Given the description of an element on the screen output the (x, y) to click on. 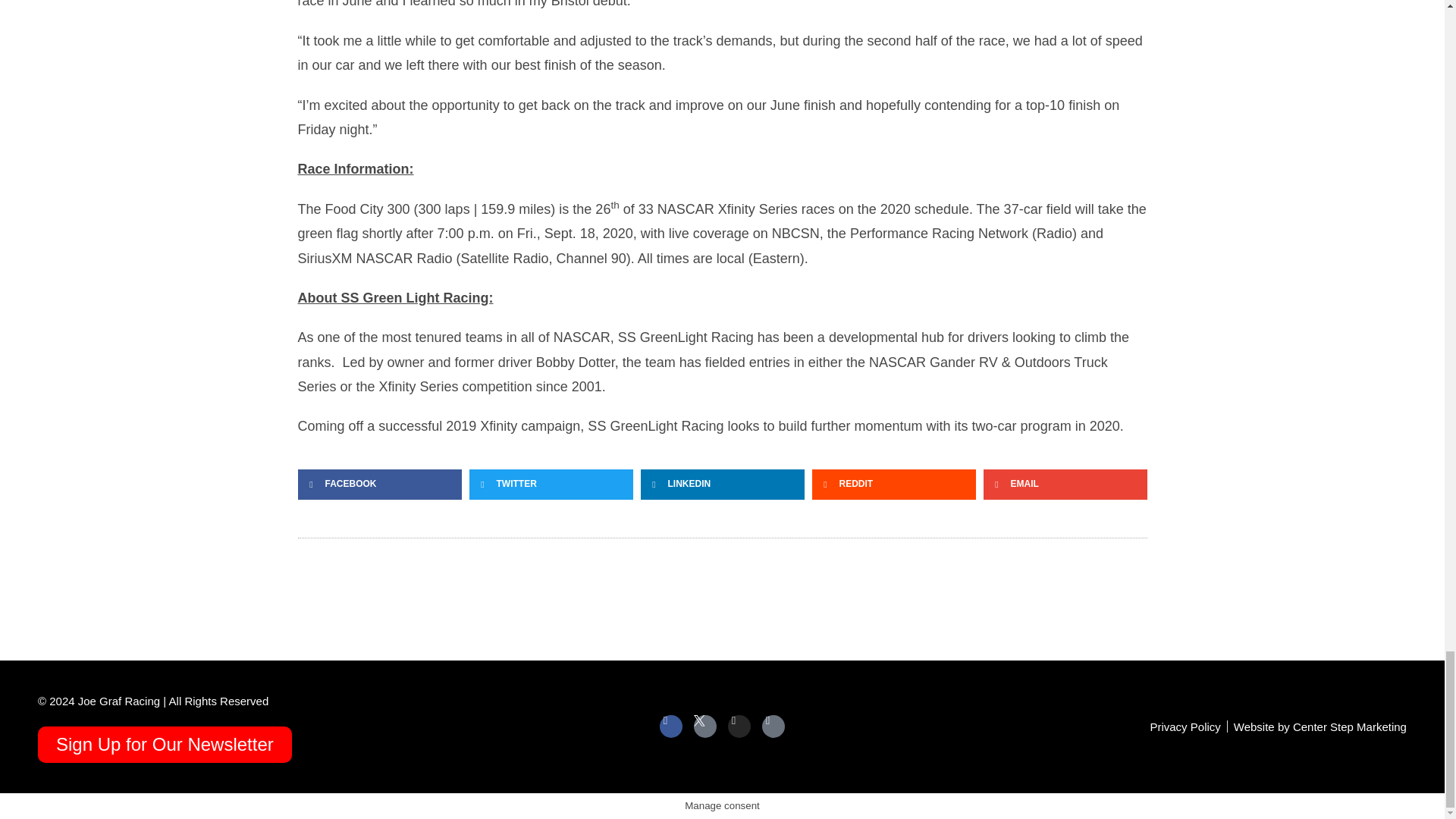
Sign Up for Our Newsletter (164, 744)
